Given the description of an element on the screen output the (x, y) to click on. 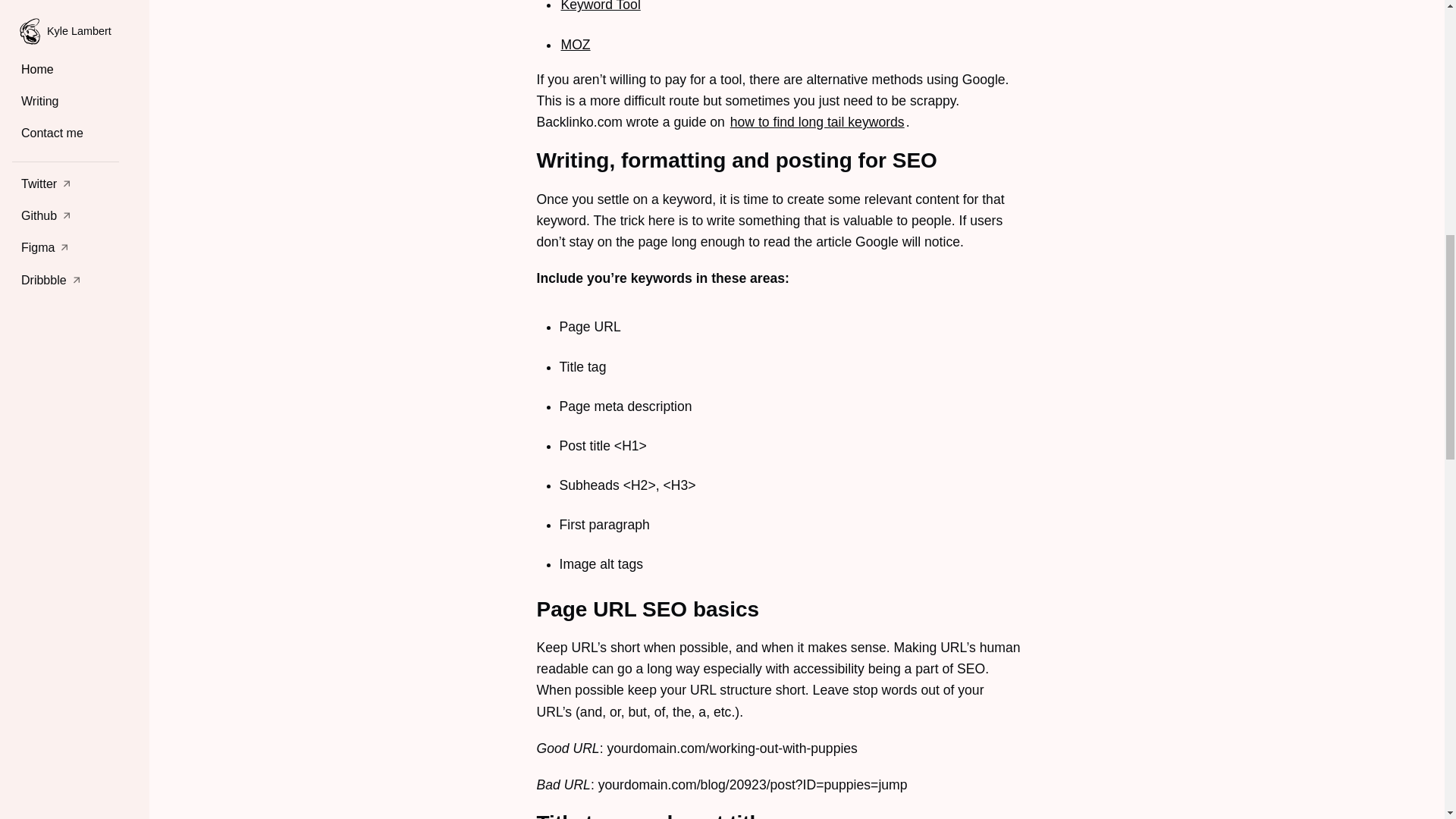
Keyword Tool (600, 6)
how to find long tail keywords (817, 121)
MOZ (575, 44)
